Given the description of an element on the screen output the (x, y) to click on. 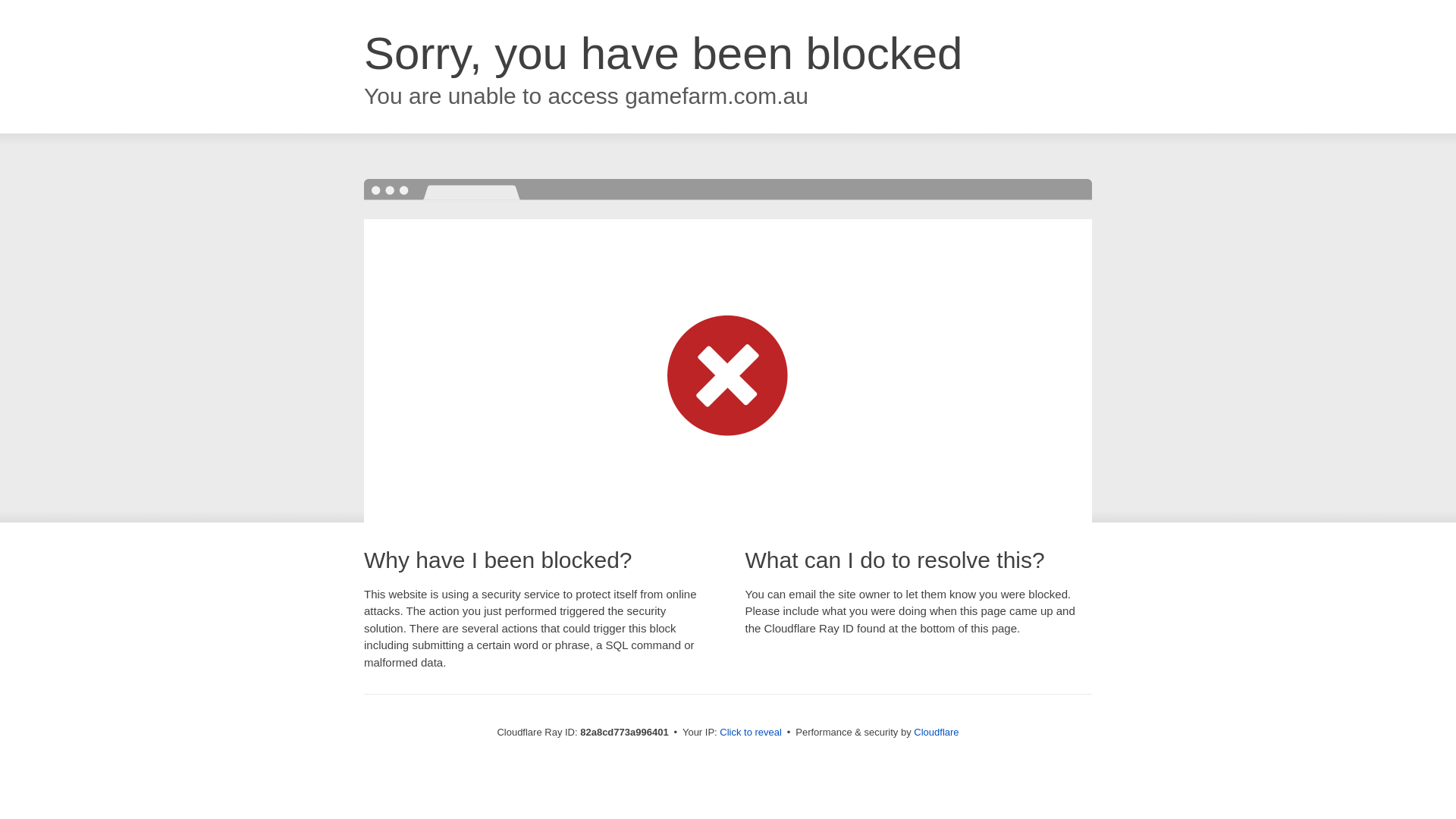
Cloudflare Element type: text (935, 731)
Click to reveal Element type: text (750, 732)
